Given the description of an element on the screen output the (x, y) to click on. 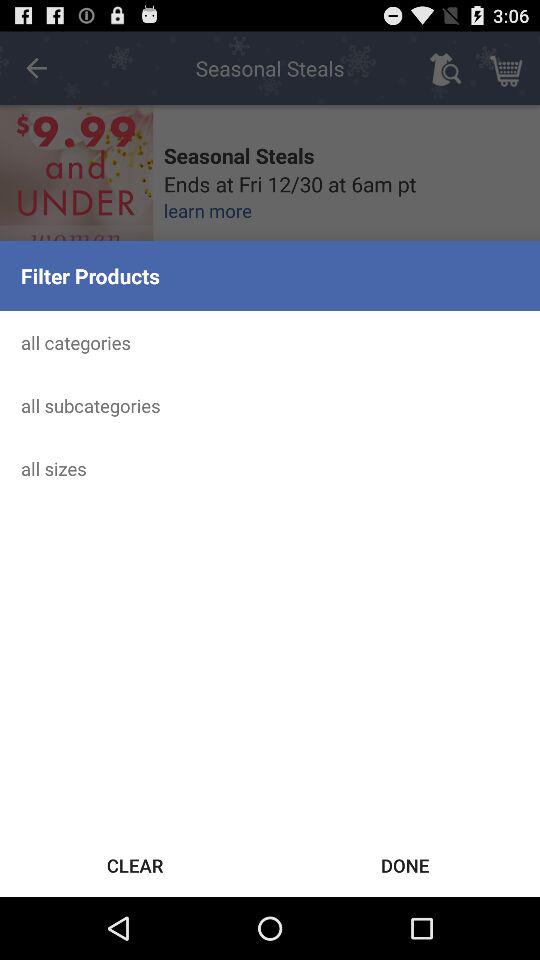
scroll until done (405, 864)
